Given the description of an element on the screen output the (x, y) to click on. 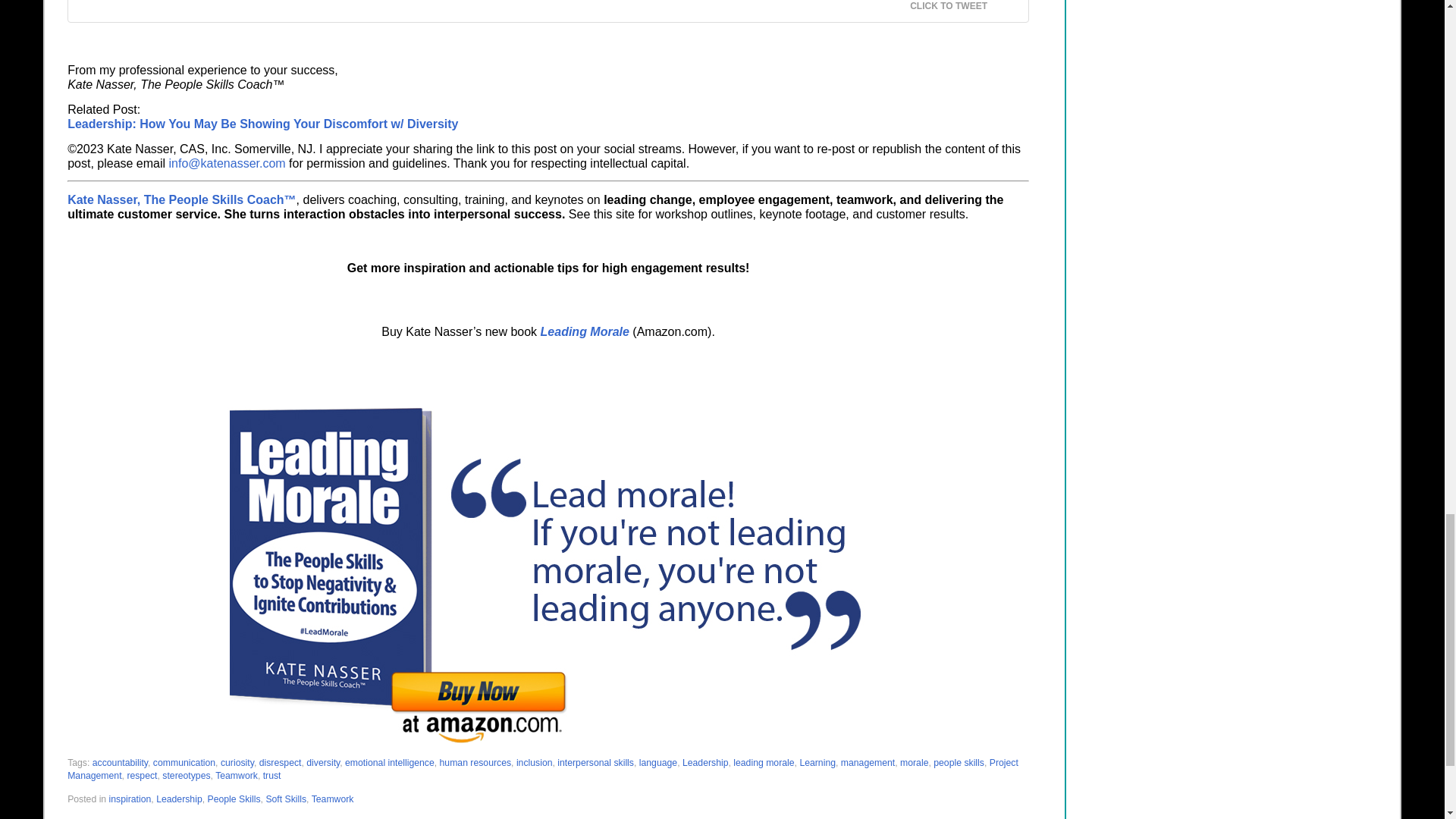
CLICK TO TWEET (958, 5)
accountability (120, 762)
Leading Morale (584, 331)
human resources (475, 762)
inclusion (534, 762)
communication (183, 762)
disrespect (280, 762)
diversity (322, 762)
emotional intelligence (389, 762)
curiosity (237, 762)
interpersonal skills (595, 762)
